Given the description of an element on the screen output the (x, y) to click on. 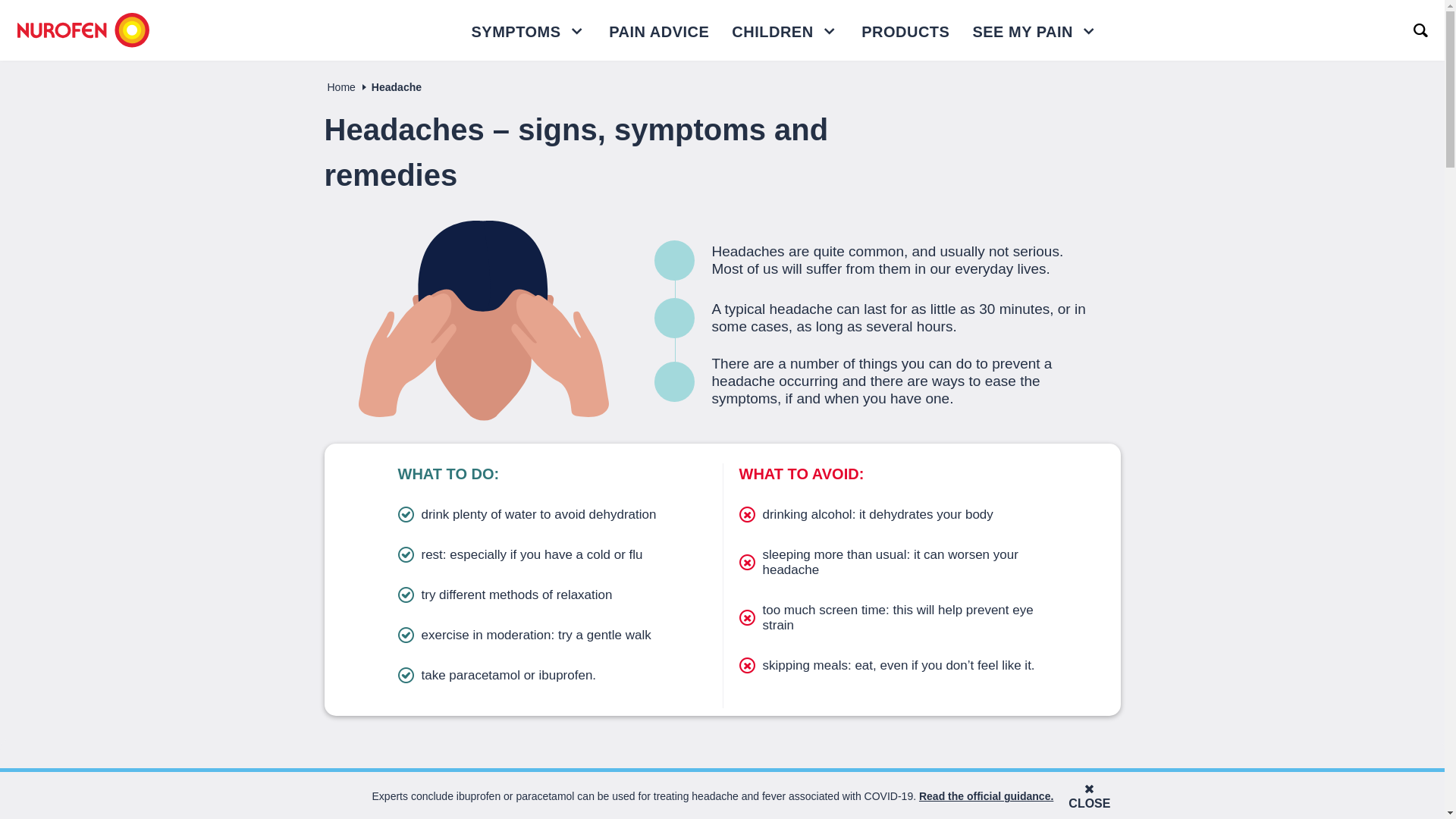
SYMPTOMS (528, 30)
PRODUCTS (905, 30)
CHILDREN (772, 31)
PAIN ADVICE (659, 30)
CHILDREN (785, 30)
SEE MY PAIN (1022, 31)
Home (341, 87)
SYMPTOMS (515, 31)
SEE MY PAIN (1034, 30)
